Given the description of an element on the screen output the (x, y) to click on. 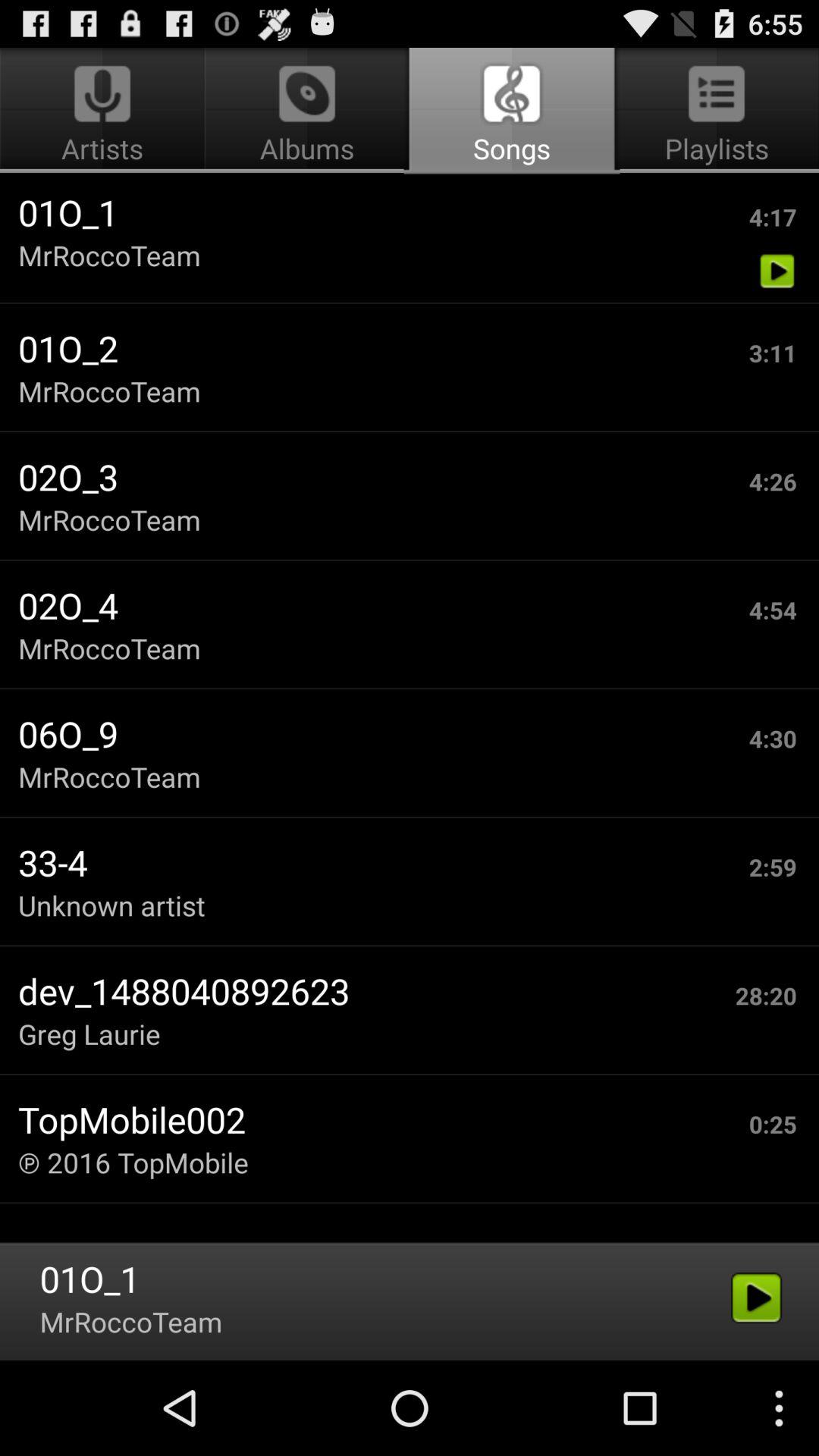
press item next to the playlists item (307, 111)
